Given the description of an element on the screen output the (x, y) to click on. 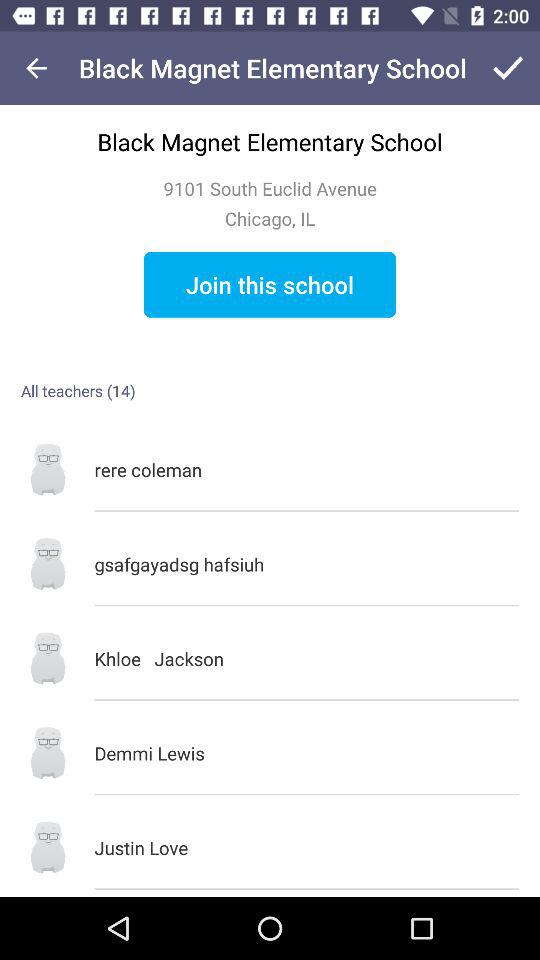
tap join this school icon (270, 284)
